Given the description of an element on the screen output the (x, y) to click on. 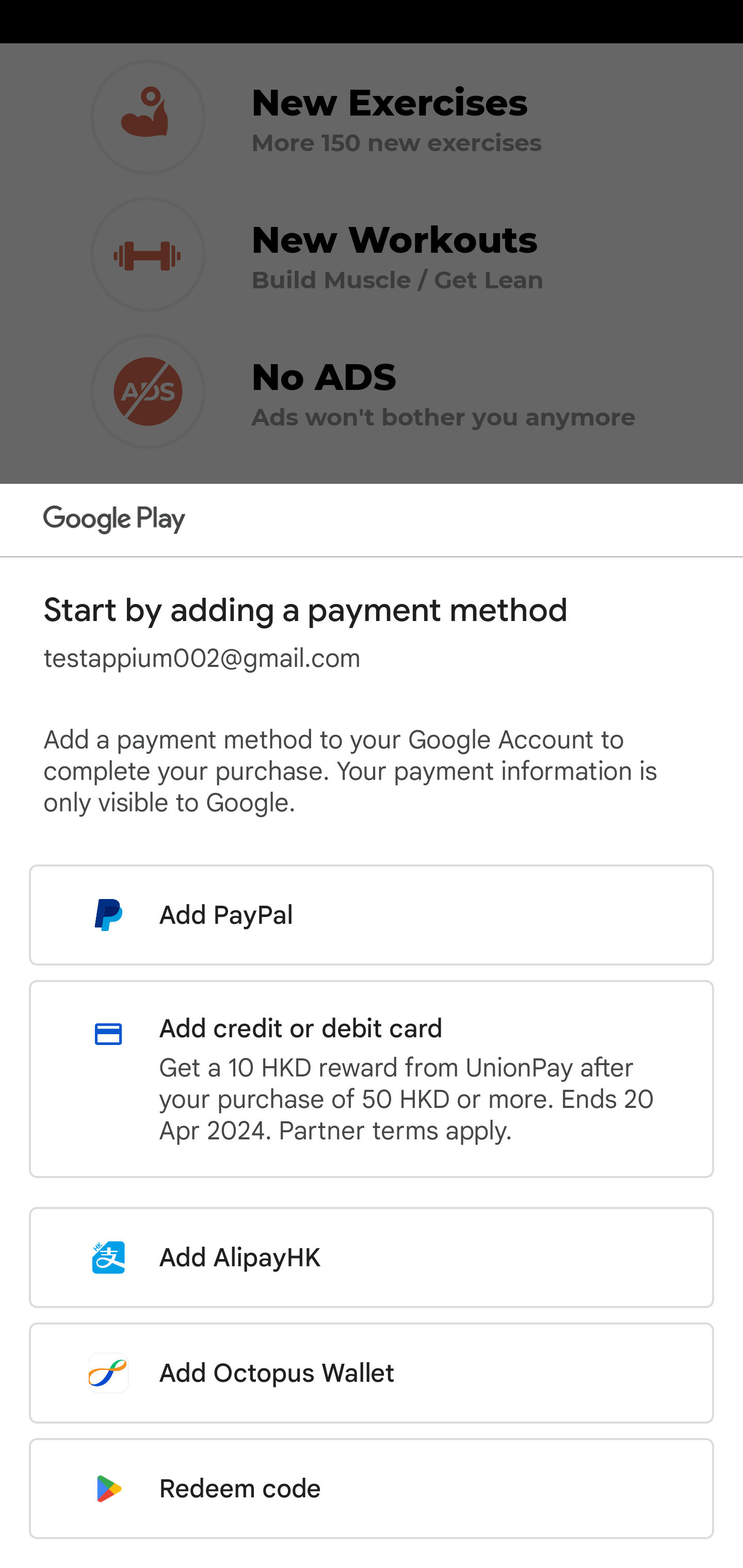
Add PayPal (371, 914)
Add AlipayHK (371, 1257)
Add Octopus Wallet (371, 1372)
Redeem code (371, 1488)
